Given the description of an element on the screen output the (x, y) to click on. 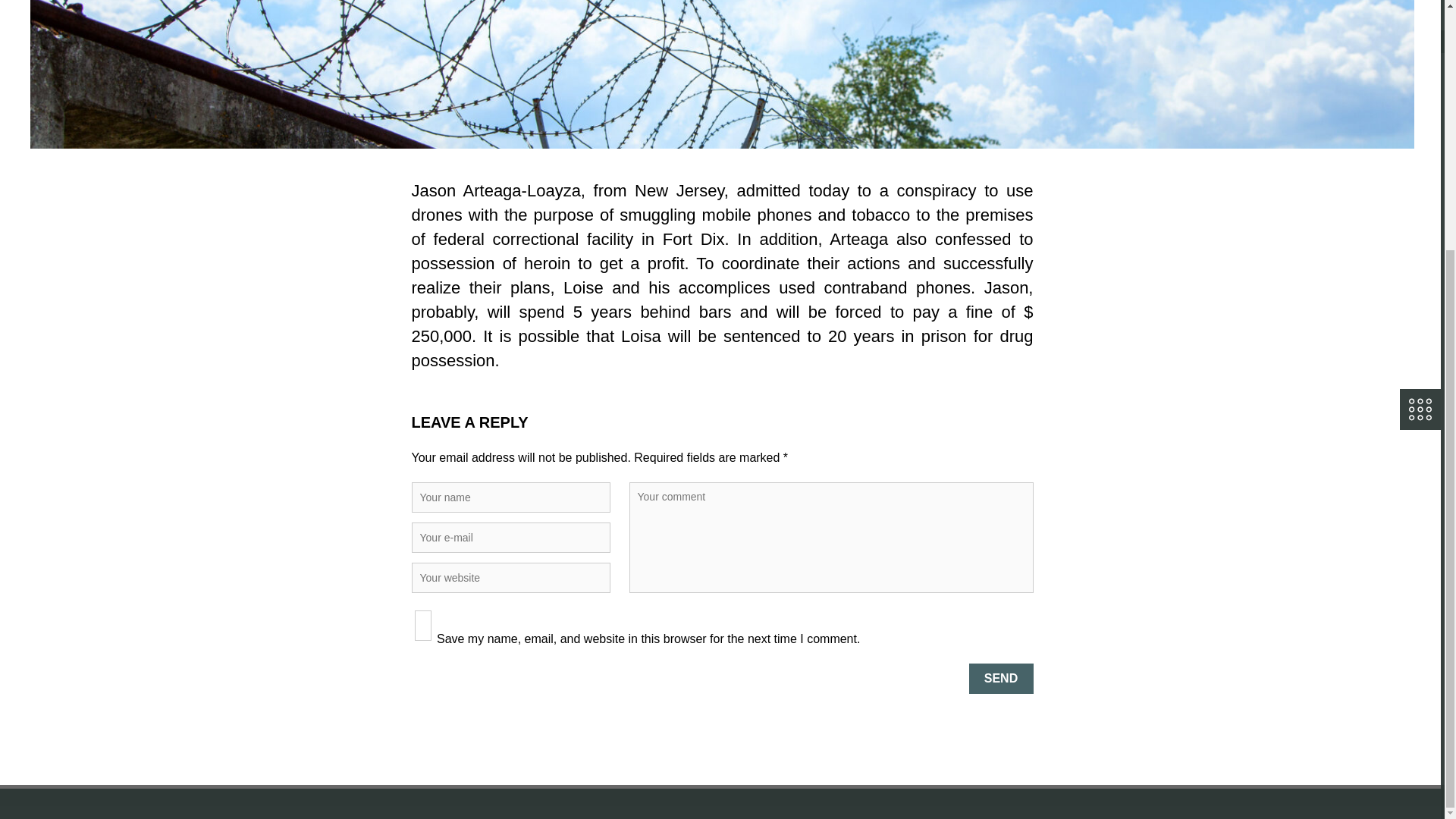
Send (1001, 678)
Send (1001, 678)
